Given the description of an element on the screen output the (x, y) to click on. 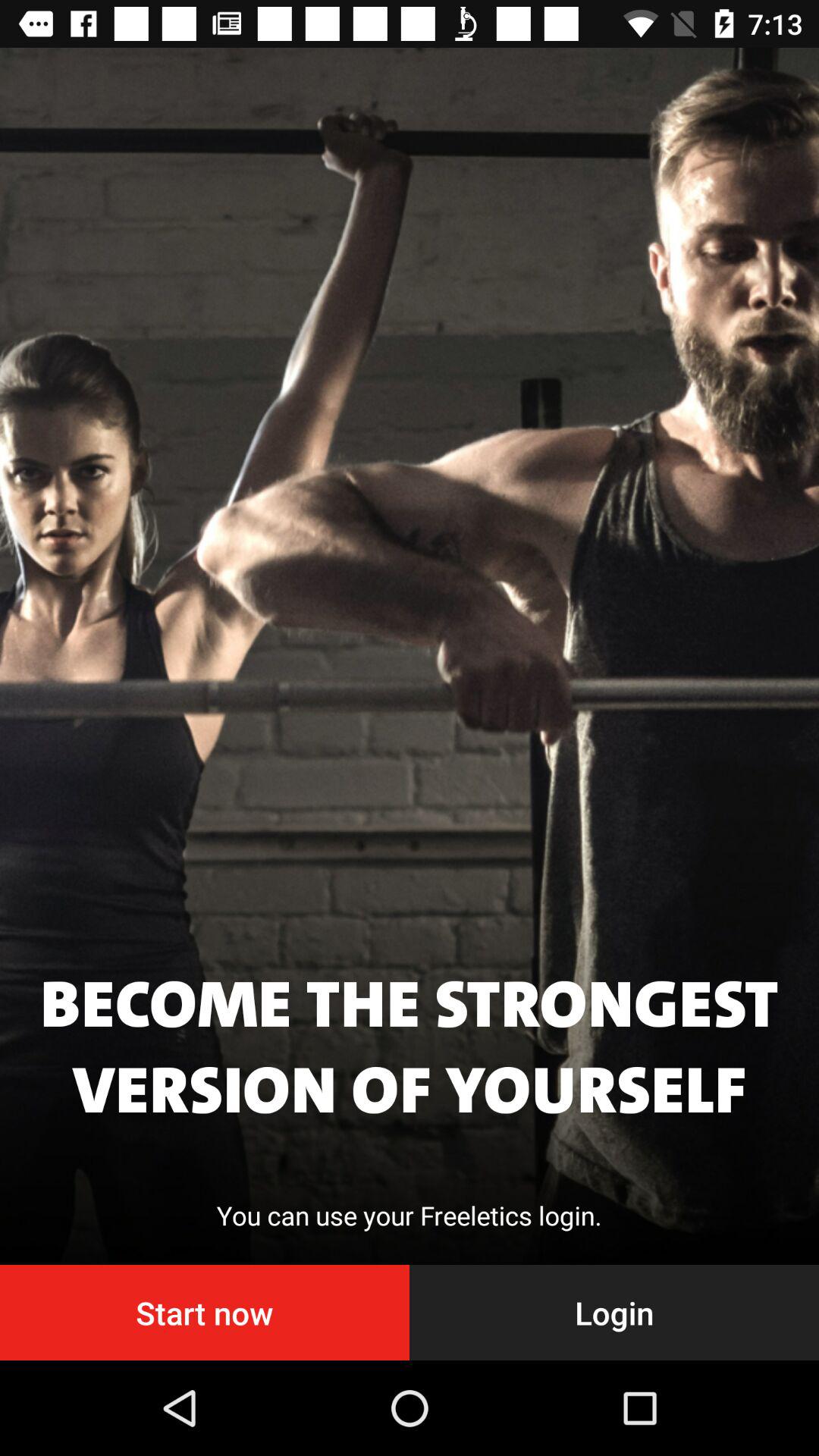
launch the start now at the bottom left corner (204, 1312)
